Given the description of an element on the screen output the (x, y) to click on. 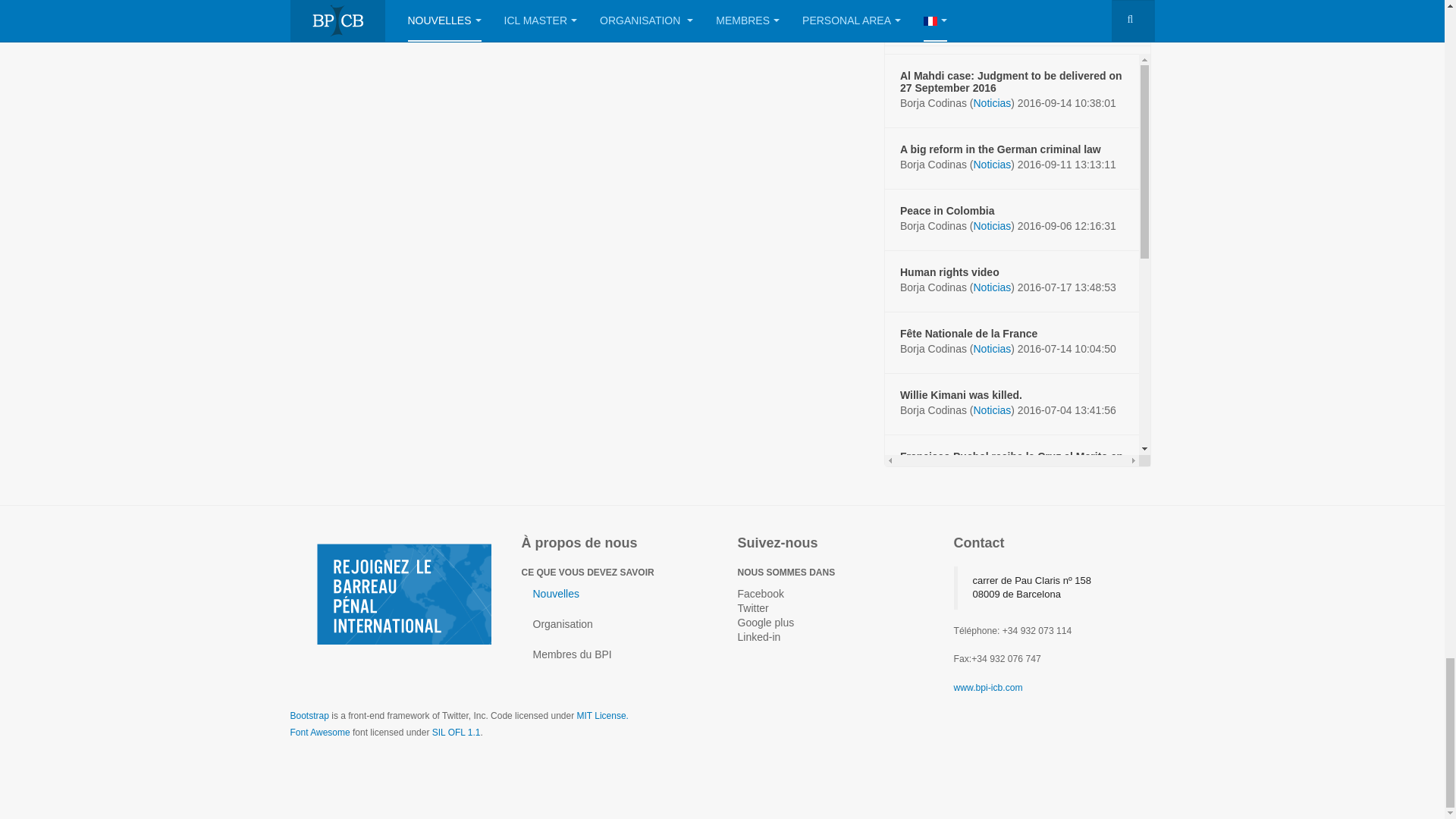
Facebook (759, 593)
Back to Top (1415, 2)
